Given the description of an element on the screen output the (x, y) to click on. 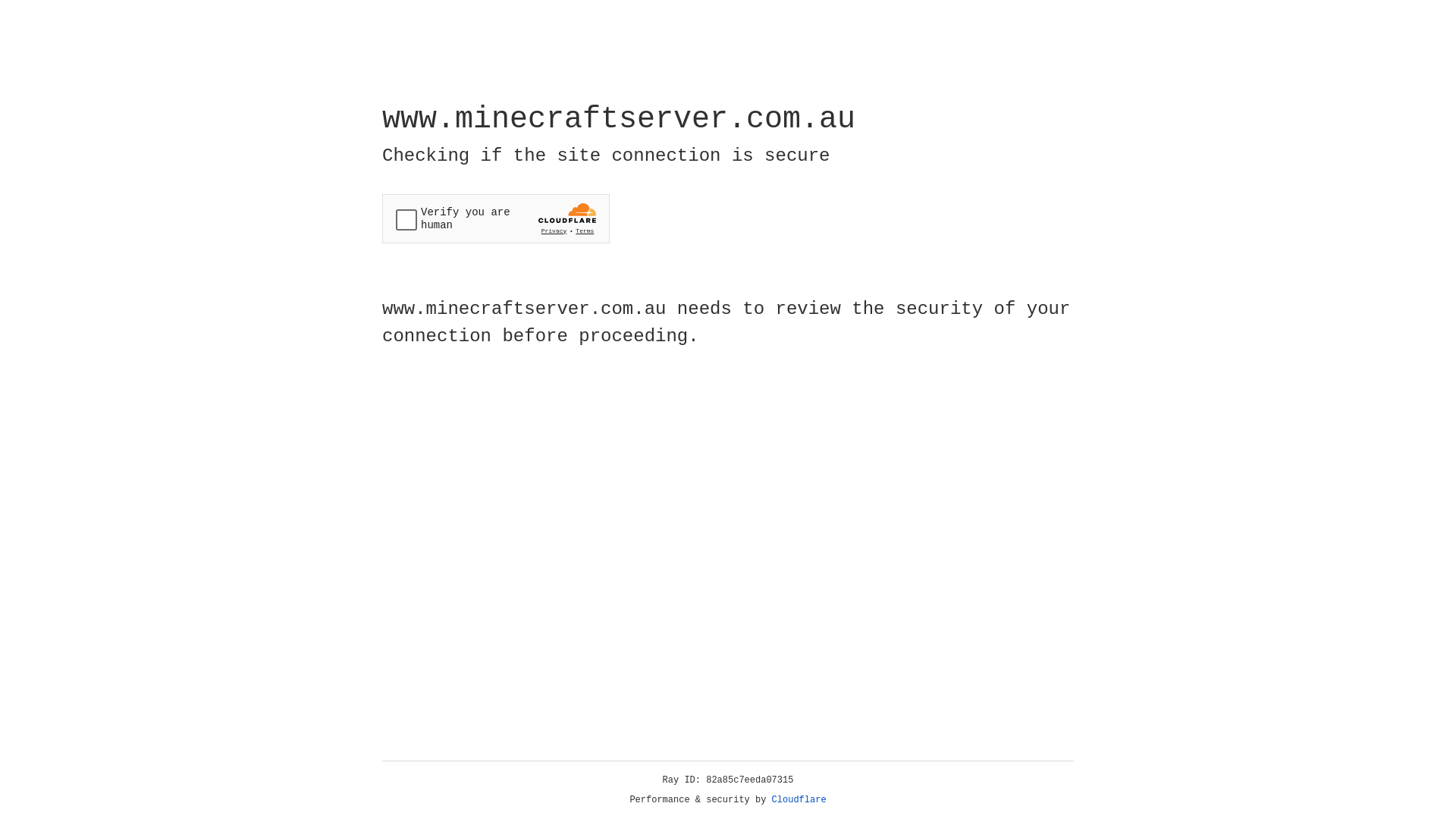
Widget containing a Cloudflare security challenge Element type: hover (495, 218)
Cloudflare Element type: text (798, 799)
